Given the description of an element on the screen output the (x, y) to click on. 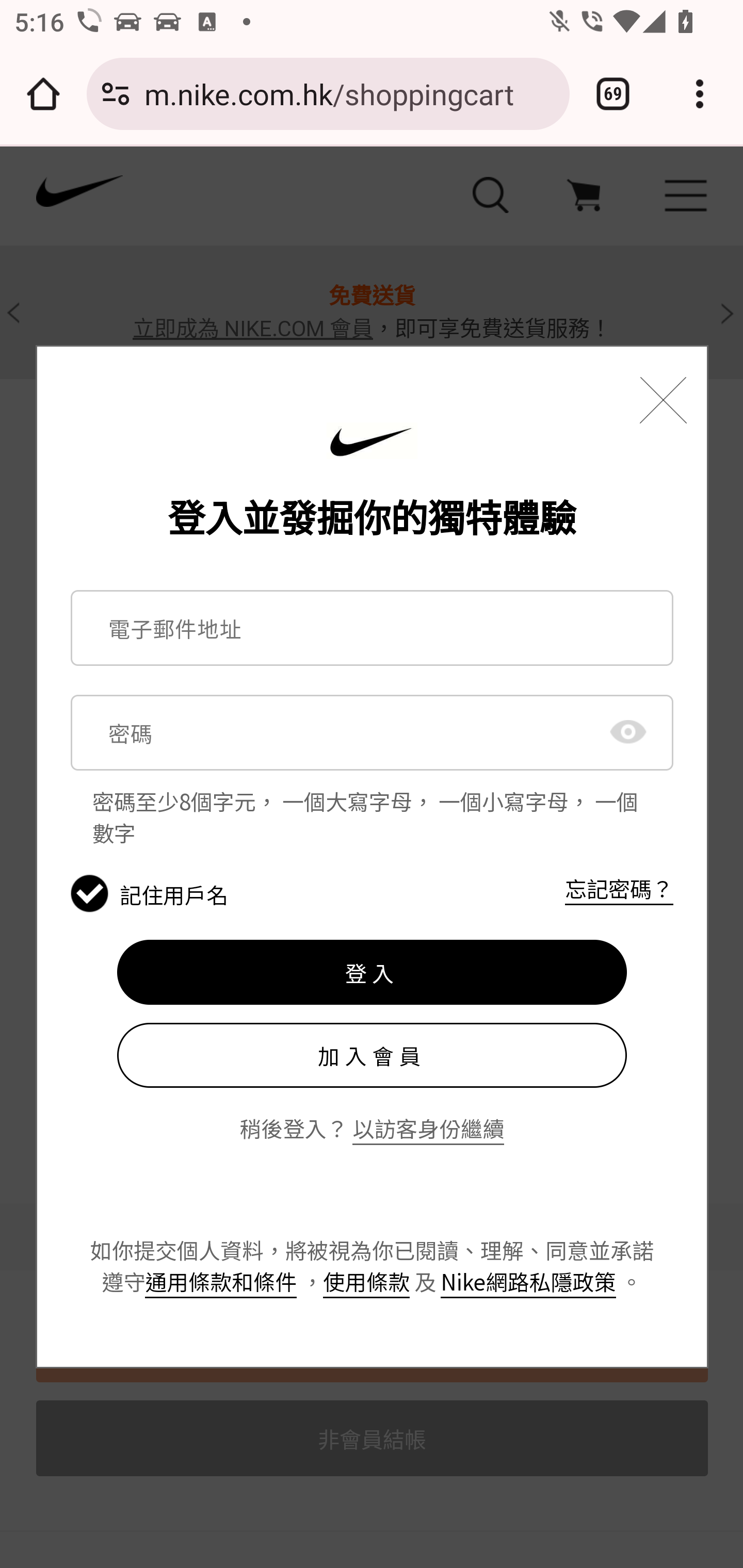
Open the home page (43, 93)
Connection is secure (115, 93)
Switch or close tabs (612, 93)
Customize and control Google Chrome (699, 93)
m.nike.com.hk/shoppingcart (349, 92)
忘記密碼？ (619, 888)
加入會員 (371, 1054)
通用條款和條件 (220, 1281)
使用條款 (366, 1281)
Nike網路私隱政策 (528, 1281)
